Given the description of an element on the screen output the (x, y) to click on. 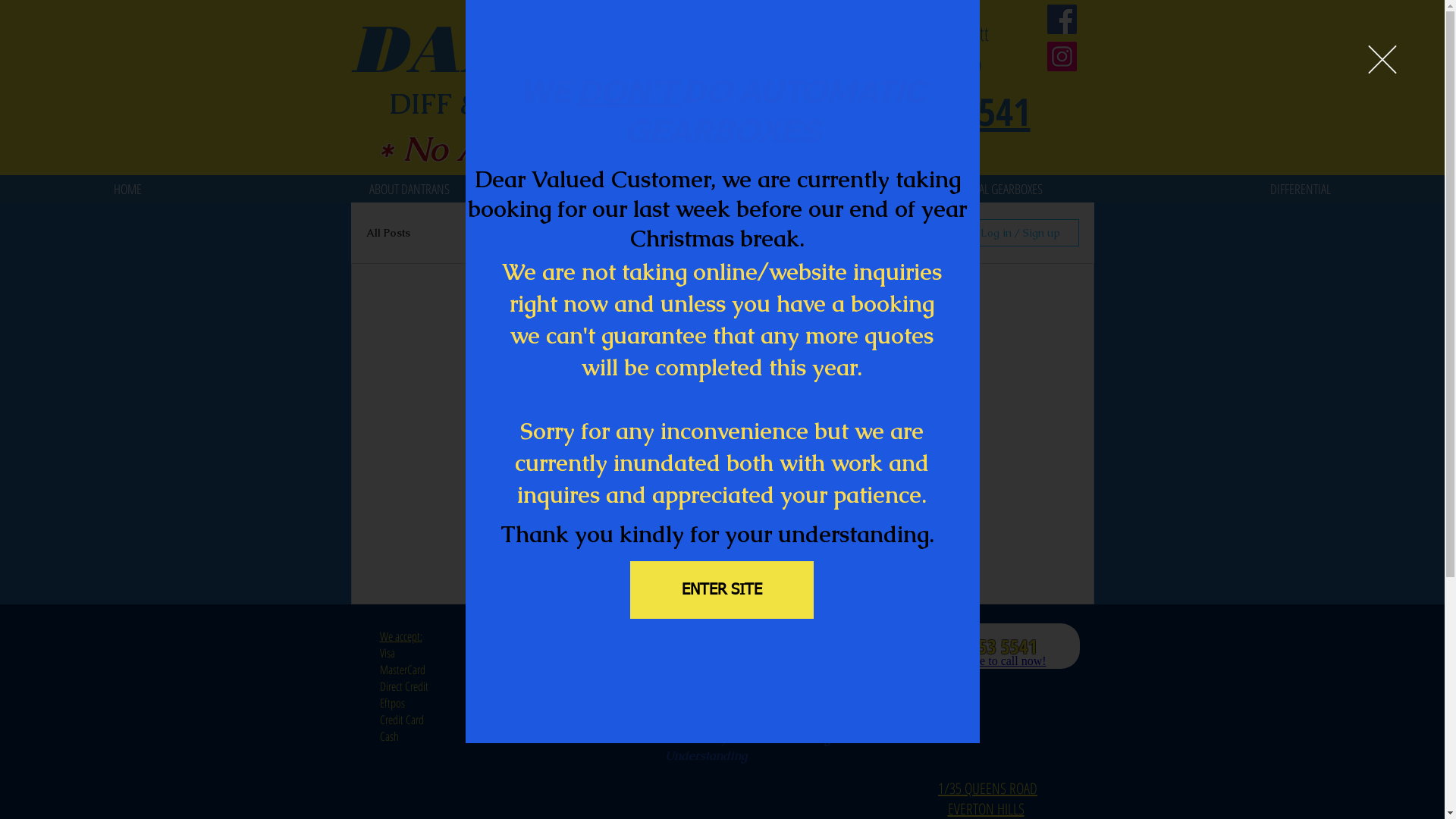
Back to site Element type: hover (1382, 59)
Embedded Content Element type: hover (997, 664)
CLUTCHES Element type: text (699, 188)
ABOUT DANTRANS Element type: text (409, 188)
HOME Element type: text (127, 188)
All Posts Element type: text (387, 232)
Log in / Sign up Element type: text (1020, 232)
07 3353 5541 Element type: text (933, 112)
DIFFERENTIAL Element type: text (1300, 188)
Embedded Content Element type: hover (1119, 11)
DANTRANS Element type: text (558, 48)
Embedded Content Element type: hover (375, 615)
MANUAL GEARBOXES Element type: text (996, 188)
1/35 QUEENS ROAD Element type: text (987, 788)
